Given the description of an element on the screen output the (x, y) to click on. 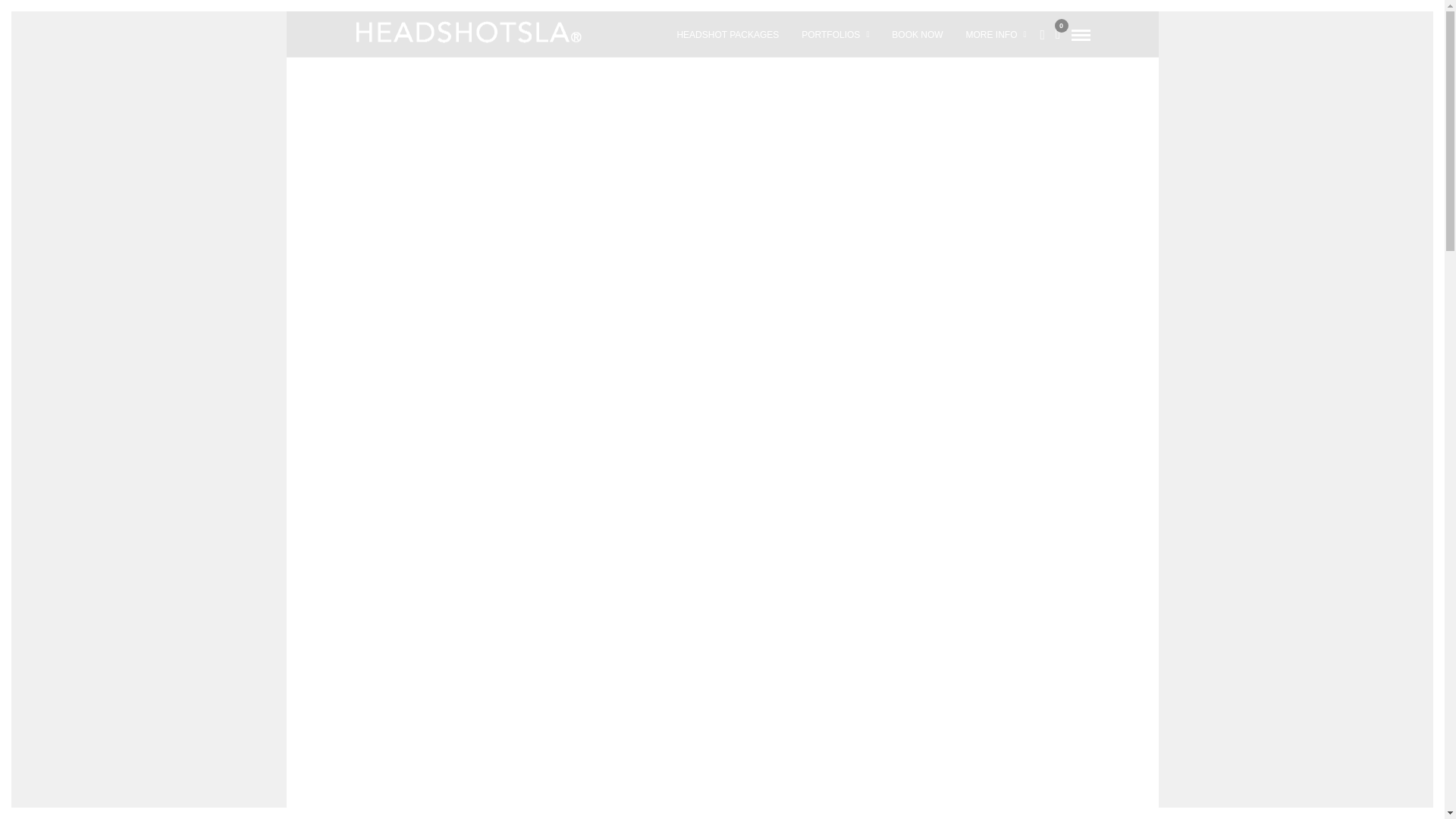
PORTFOLIOS (835, 34)
HEADSHOT PACKAGES (727, 34)
MORE INFO (996, 34)
BOOK NOW (917, 34)
